Given the description of an element on the screen output the (x, y) to click on. 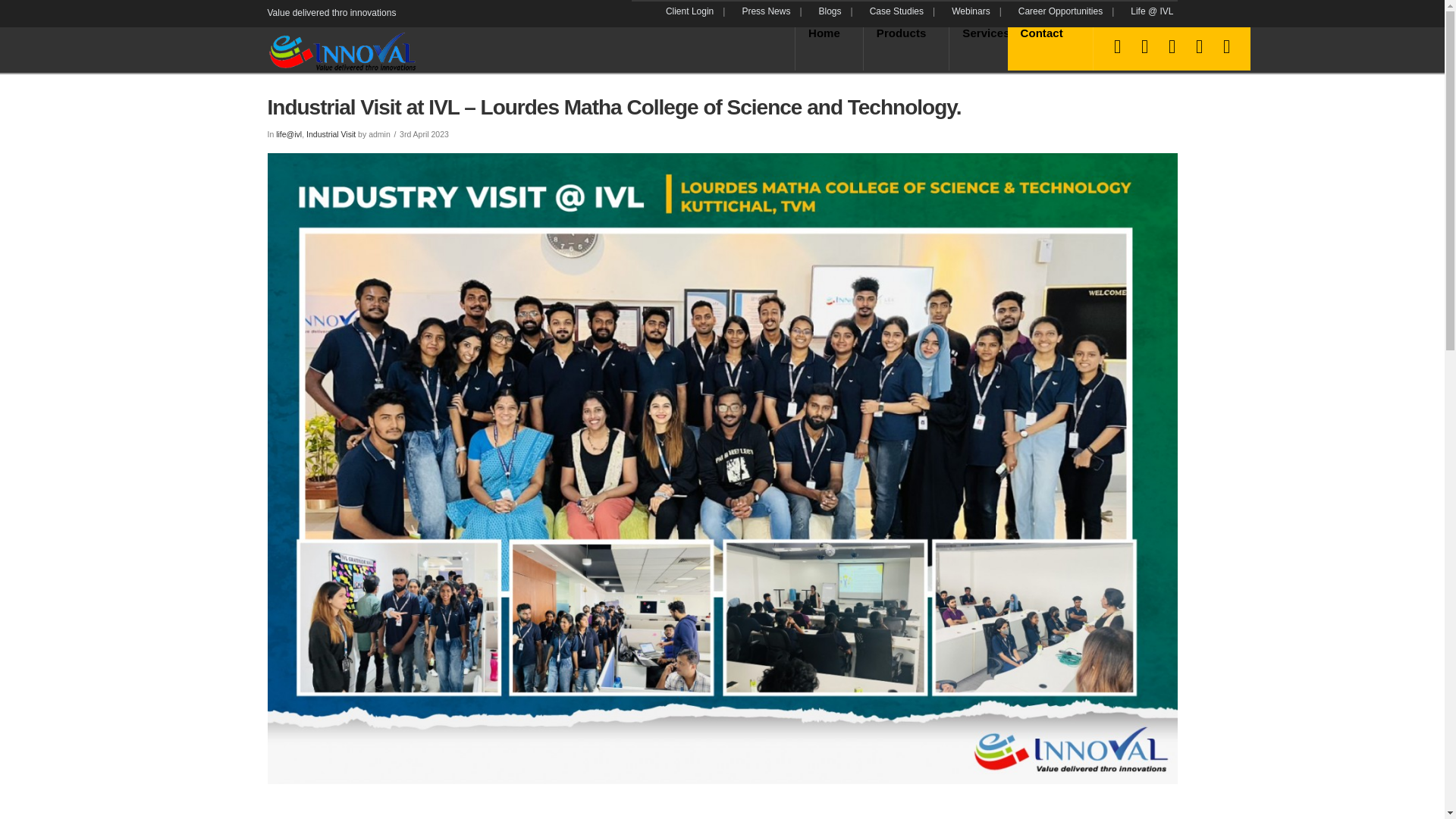
Value delivered thro innovations (342, 50)
Instagram (1227, 44)
YouTube (1199, 44)
Career Opportunities (1070, 10)
Case Studies (906, 10)
Home (828, 48)
Services (990, 48)
About (1068, 48)
LinkedIn (1171, 44)
Clients (1139, 48)
